Given the description of an element on the screen output the (x, y) to click on. 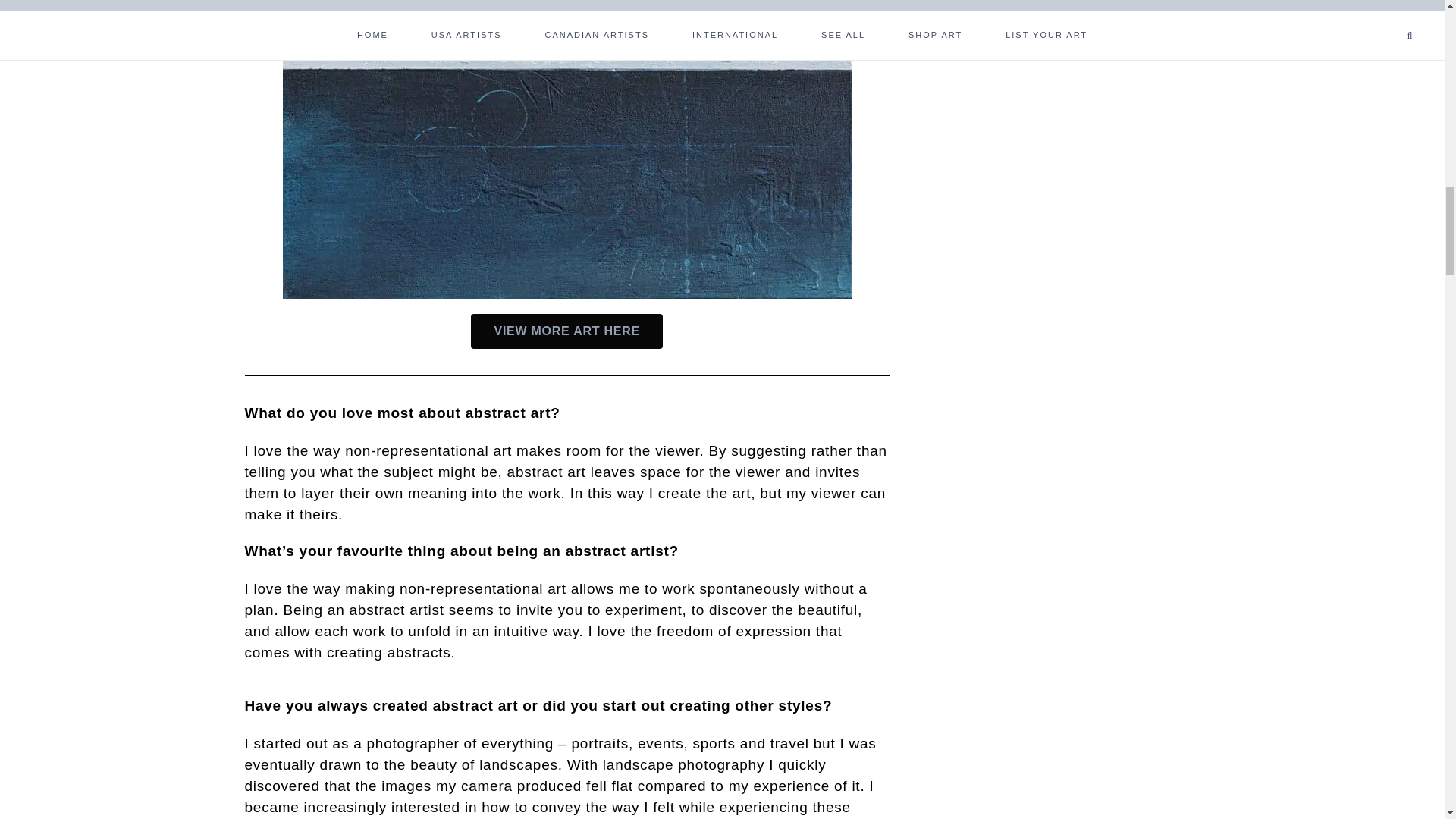
VIEW MORE ART HERE (566, 330)
